Given the description of an element on the screen output the (x, y) to click on. 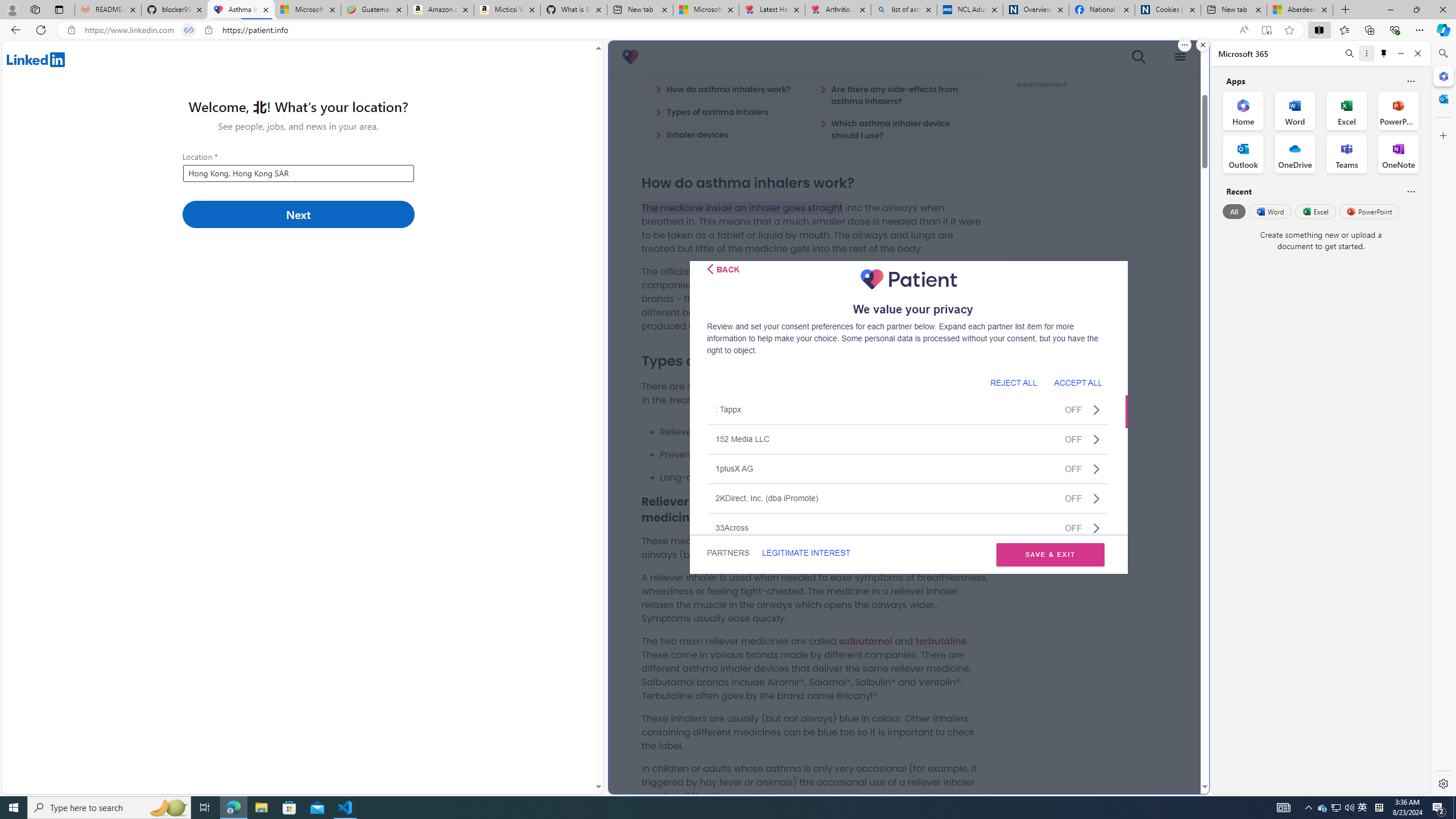
Word (1269, 210)
Excel Office App (1346, 110)
Are there any side-effects from asthma inhalers? (897, 94)
Asthma Inhalers: Names and Types (240, 9)
Tabs in split screen (189, 29)
Inhaler devices (691, 134)
33AcrossOFF (907, 527)
ACCEPT ALL (1078, 382)
Class: css-i5klq5 (710, 268)
